Given the description of an element on the screen output the (x, y) to click on. 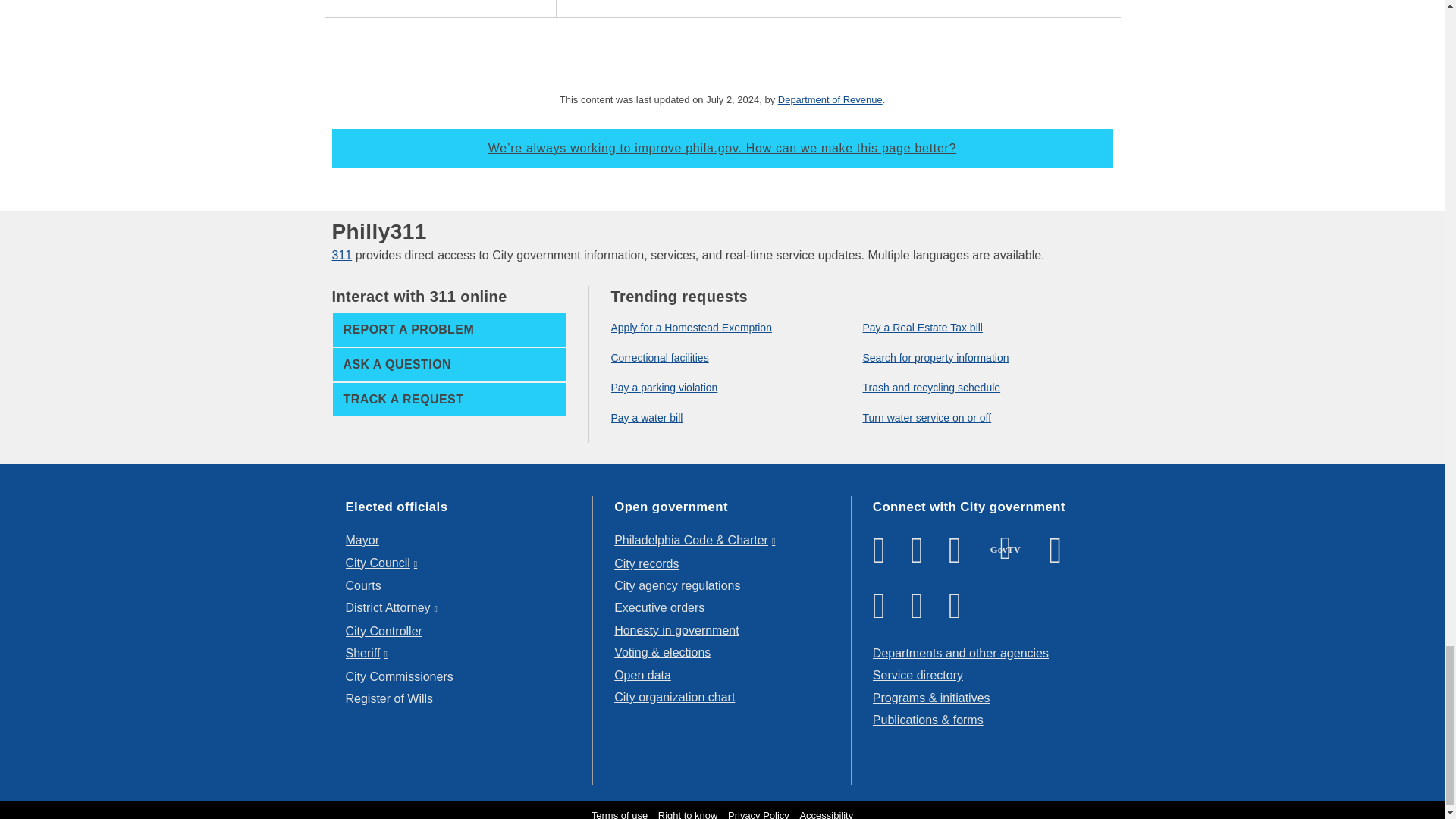
TV (1006, 548)
